Given the description of an element on the screen output the (x, y) to click on. 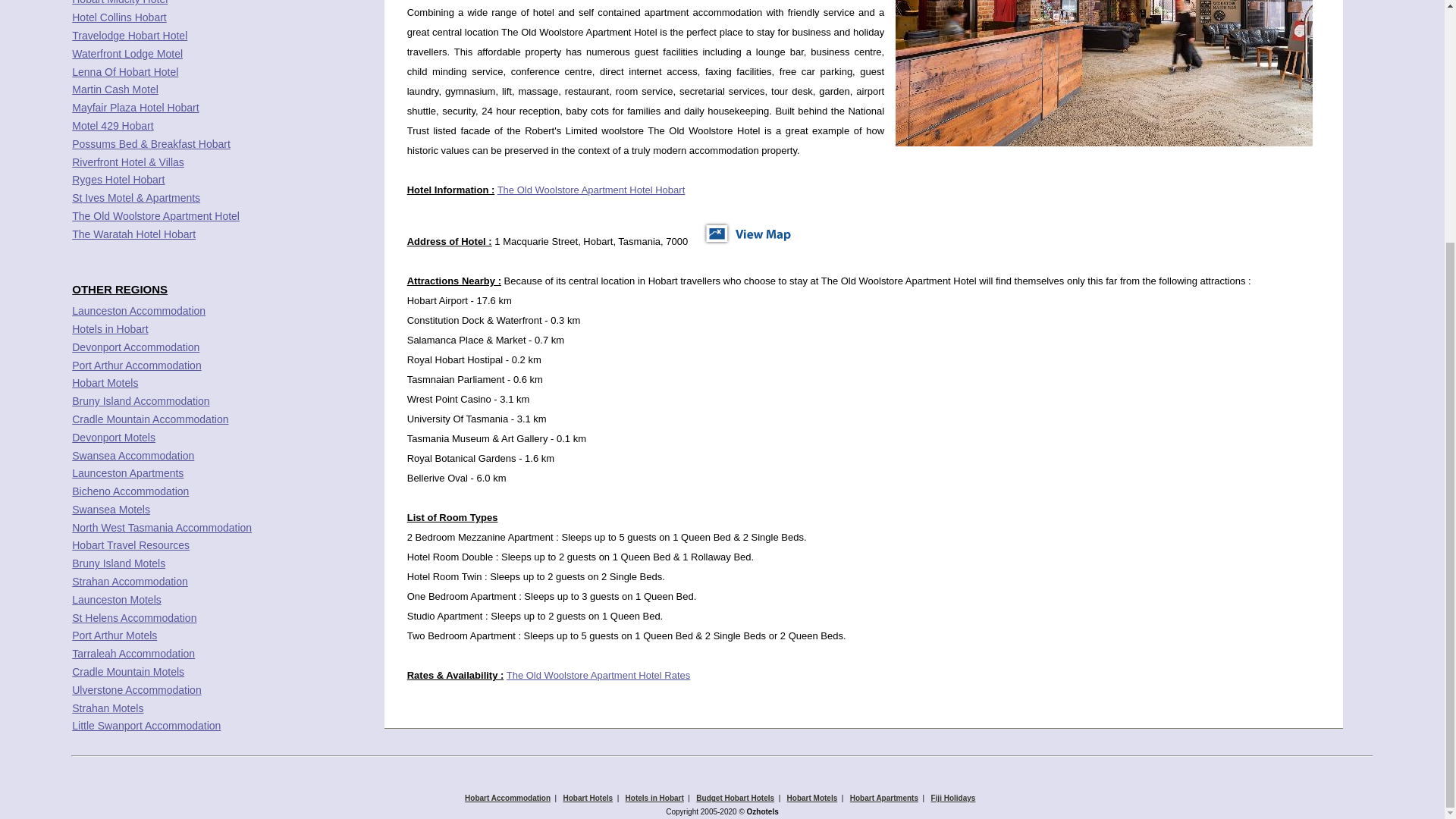
Mayfair Plaza Hotel Hobart (134, 107)
Devonport Motels (113, 437)
Lenna Of Hobart Hotel (124, 71)
Waterfront Lodge Motel (127, 53)
The Waratah Hotel Hobart (133, 234)
Travelodge Hobart Hotel (129, 35)
Hobart Motels (104, 382)
Hobart Midcity Hotel (119, 2)
Bicheno Accommodation (130, 491)
OTHER REGIONS (119, 288)
